Given the description of an element on the screen output the (x, y) to click on. 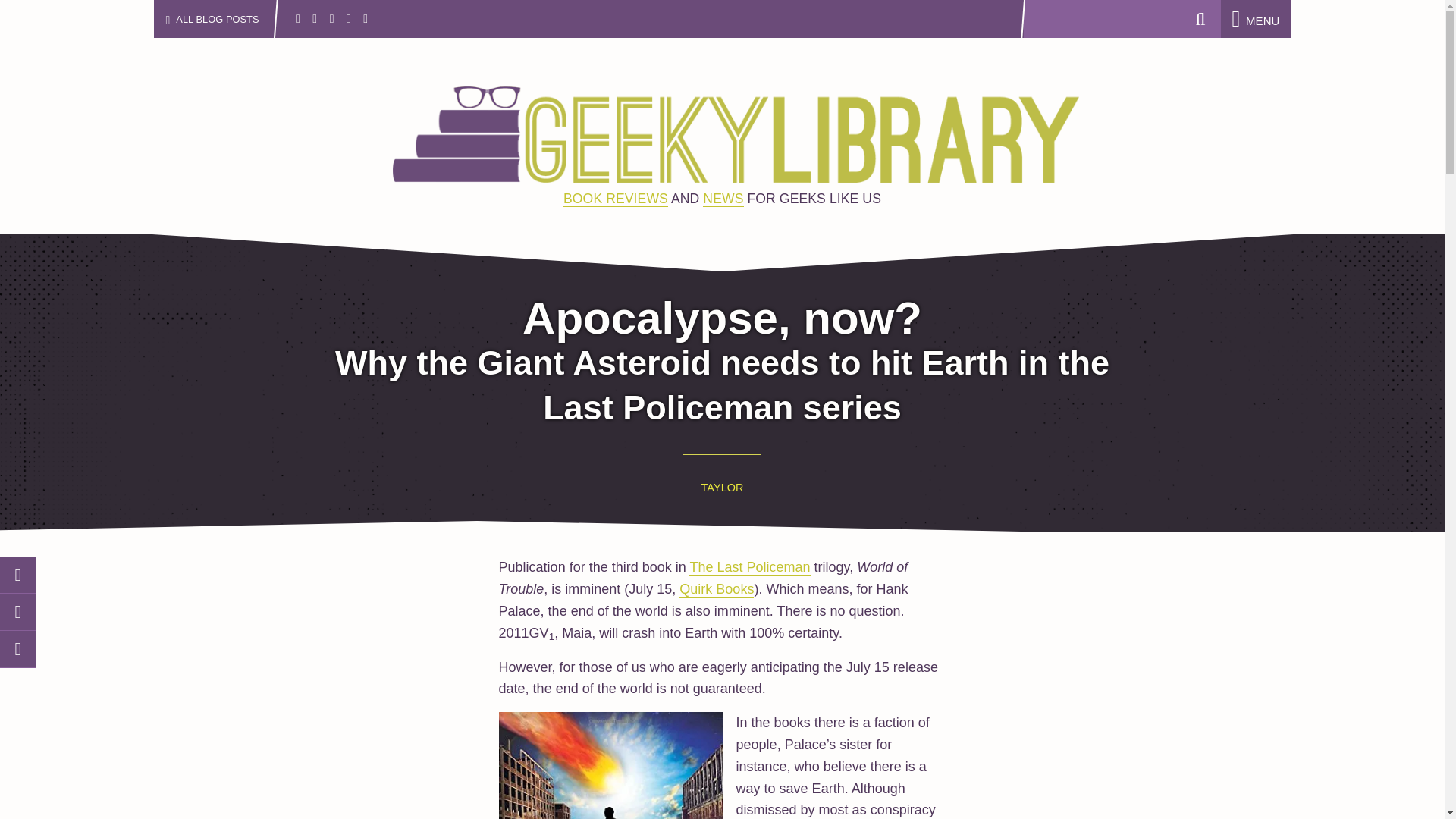
NEWS (722, 198)
BOOK REVIEWS (615, 198)
Click to share on Twitter (18, 574)
Quirk Books (716, 589)
Posts by Taylor (722, 487)
TAYLOR (722, 487)
Click to share on Facebook (18, 611)
MENU (1256, 20)
The Last Policeman (748, 567)
